Given the description of an element on the screen output the (x, y) to click on. 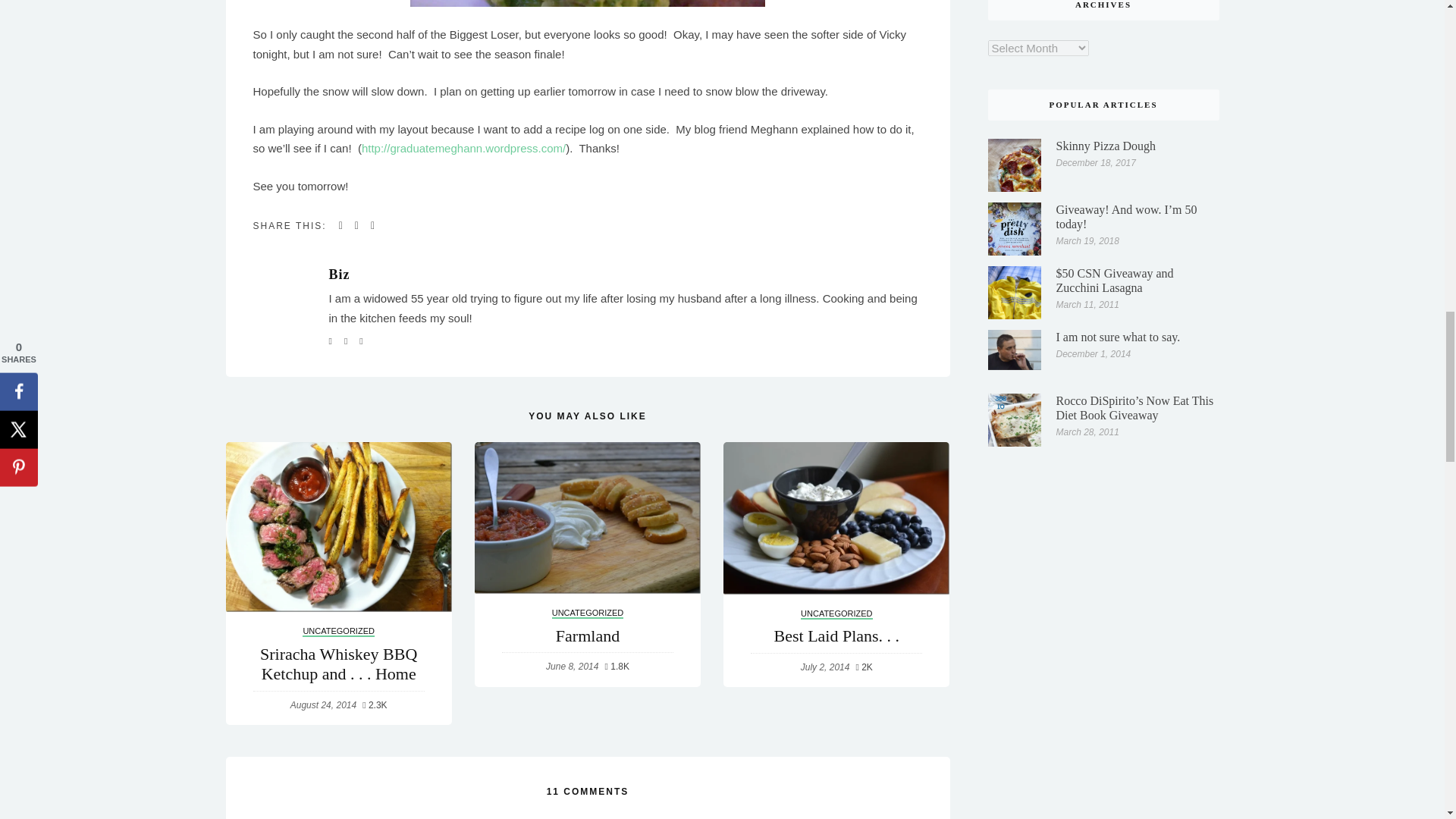
Best Laid Plans. . . (836, 518)
dscn3536-640x4801 (587, 3)
Sriracha Whiskey BBQ Ketchup and . . . Home (338, 526)
Farmland (587, 517)
